Given the description of an element on the screen output the (x, y) to click on. 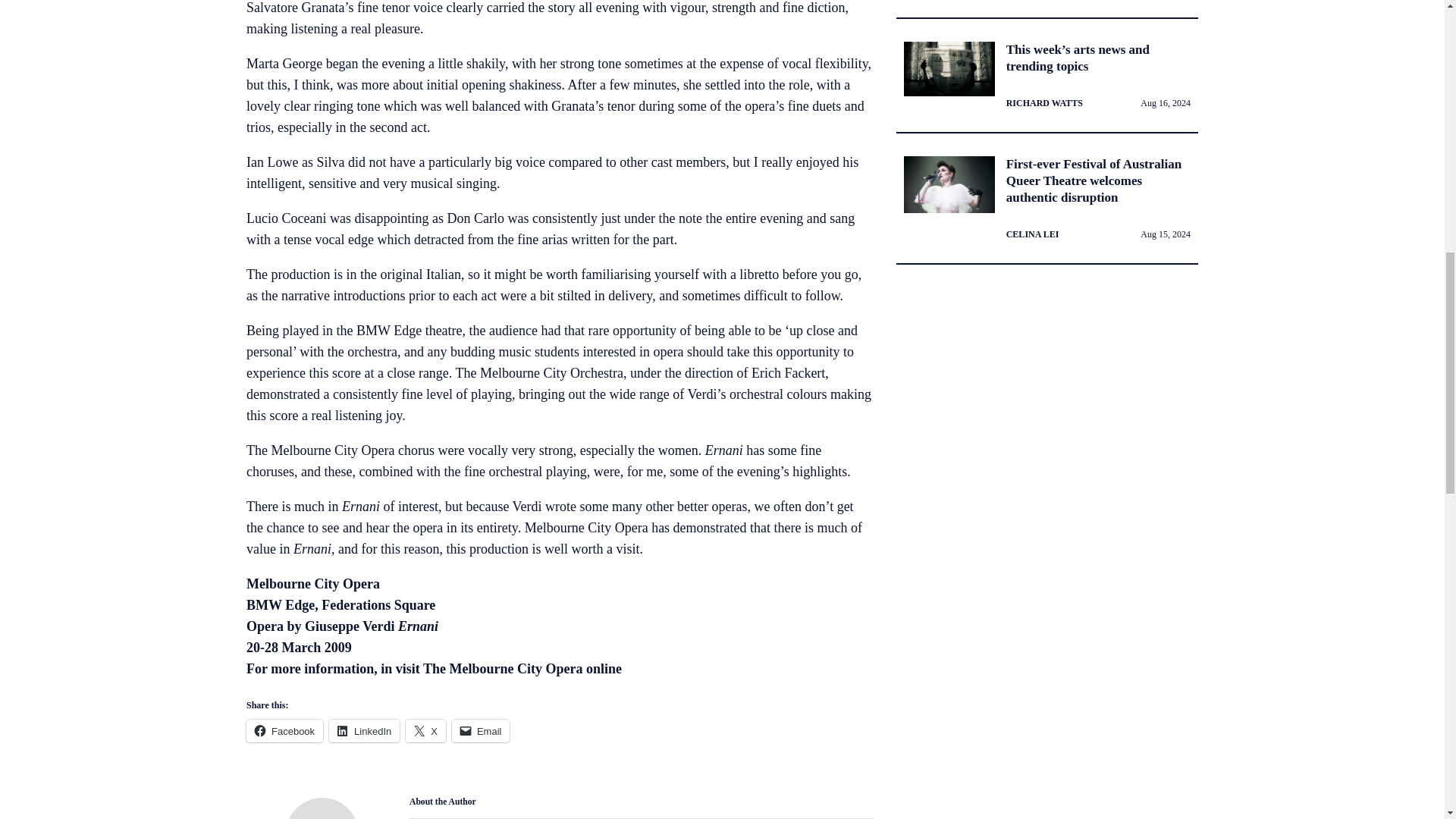
Click to share on Facebook (284, 730)
Click to email a link to a friend (481, 730)
Click to share on X (425, 730)
Click to share on LinkedIn (363, 730)
